Given the description of an element on the screen output the (x, y) to click on. 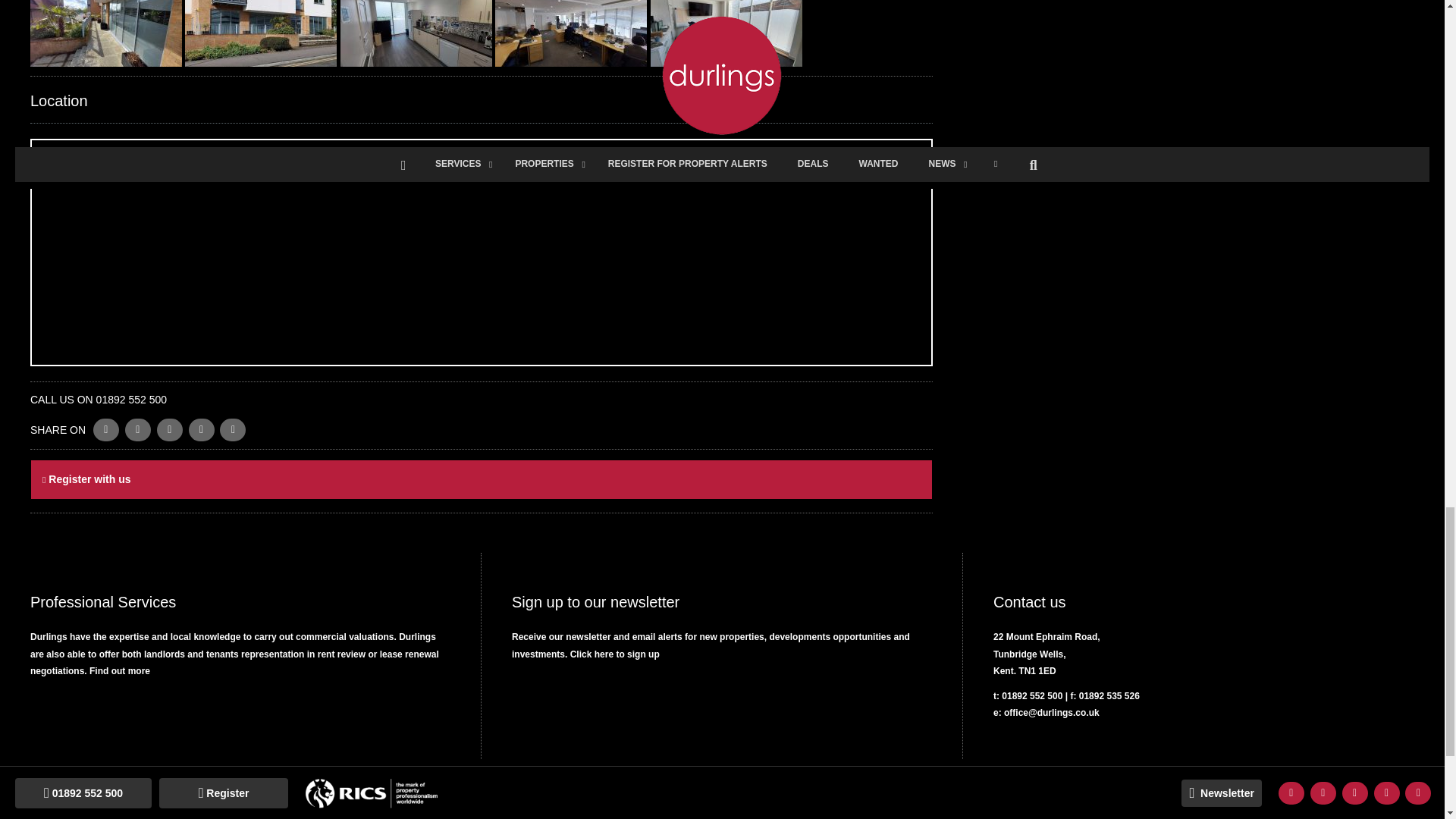
Share on Facebook. (138, 429)
Tweet this! (106, 429)
Privacy Policy (231, 798)
